Given the description of an element on the screen output the (x, y) to click on. 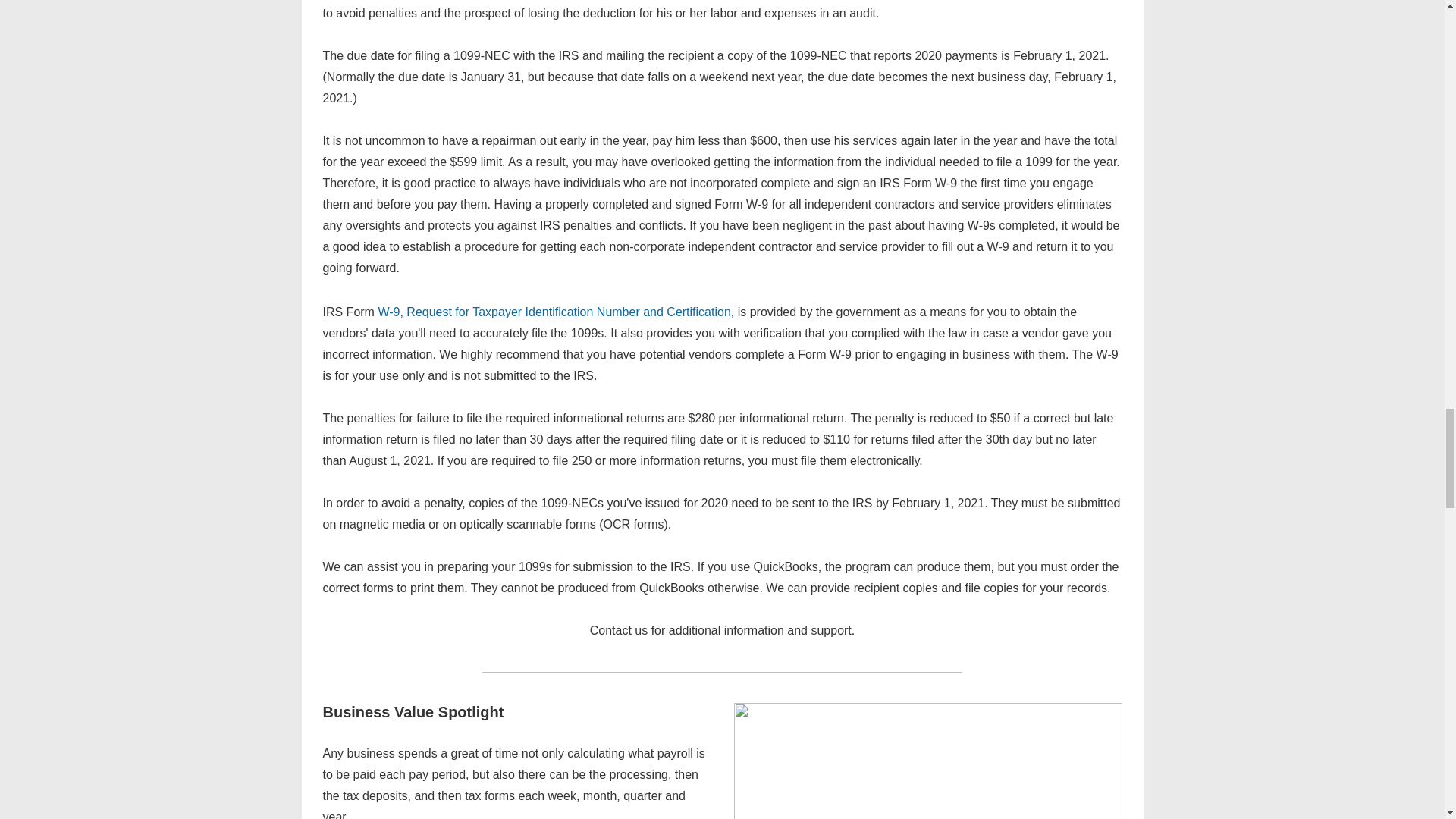
therighttools (927, 760)
